Given the description of an element on the screen output the (x, y) to click on. 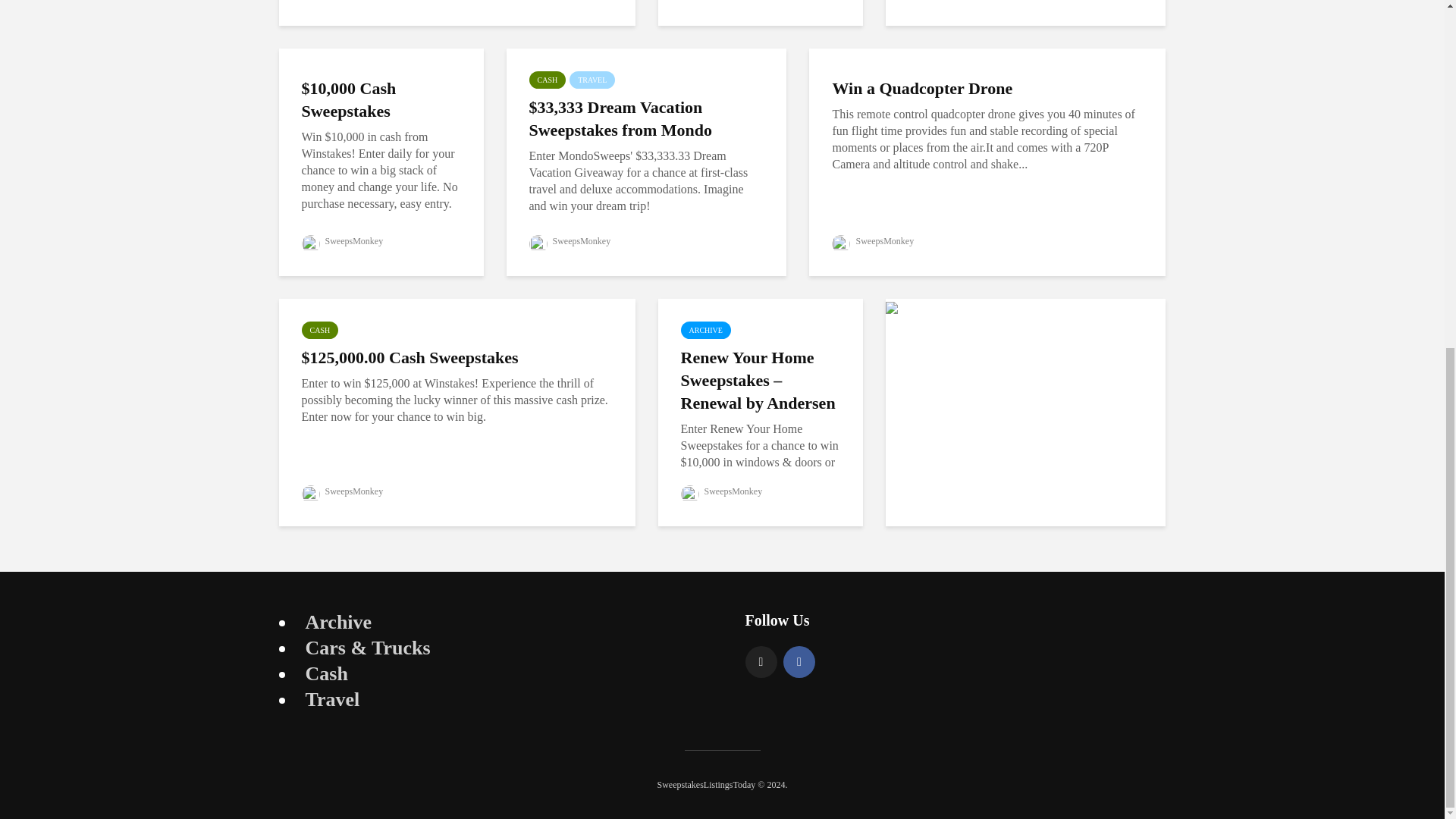
Facebook (799, 662)
